Given the description of an element on the screen output the (x, y) to click on. 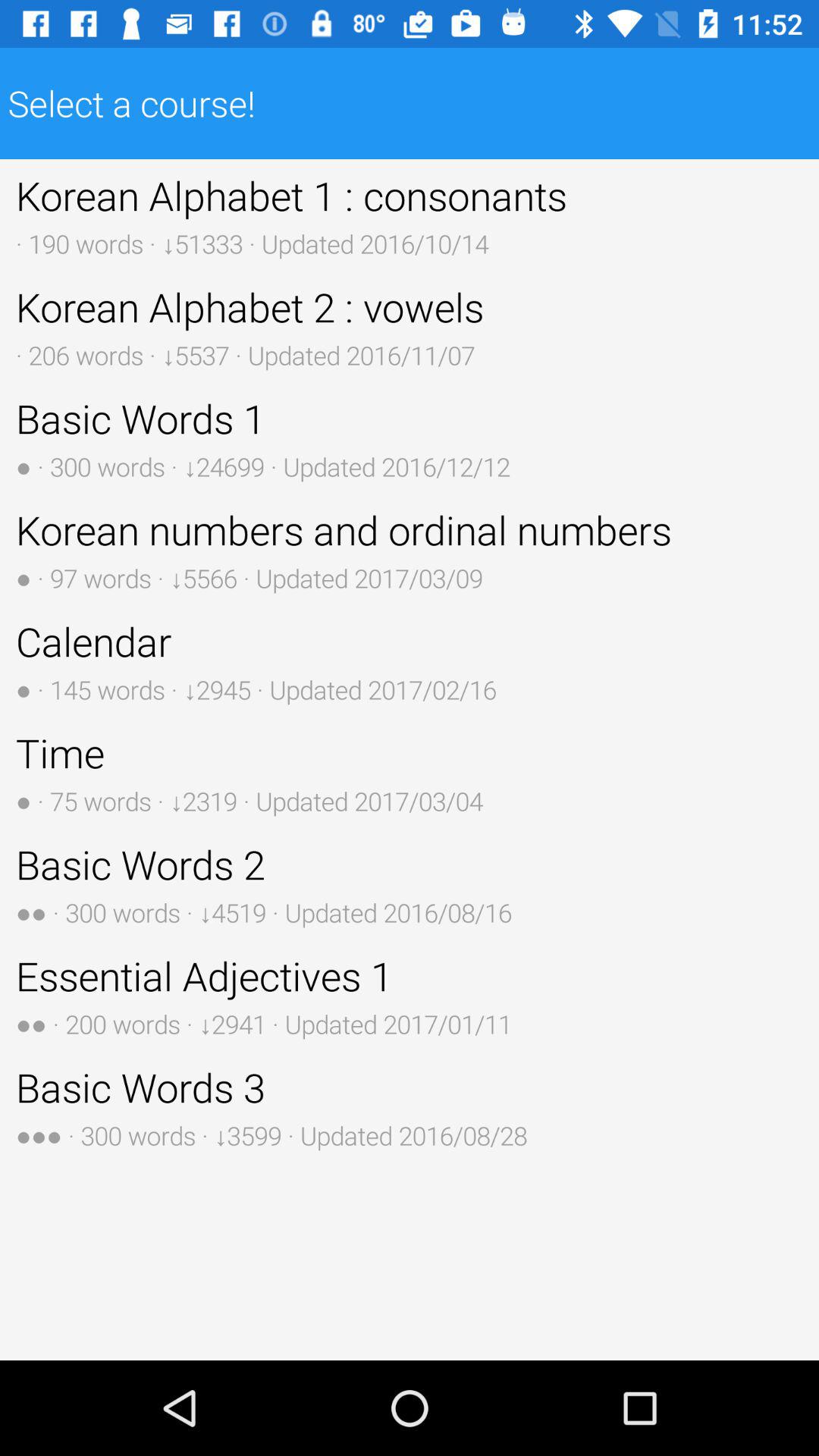
turn off calendar 145 words (409, 660)
